Given the description of an element on the screen output the (x, y) to click on. 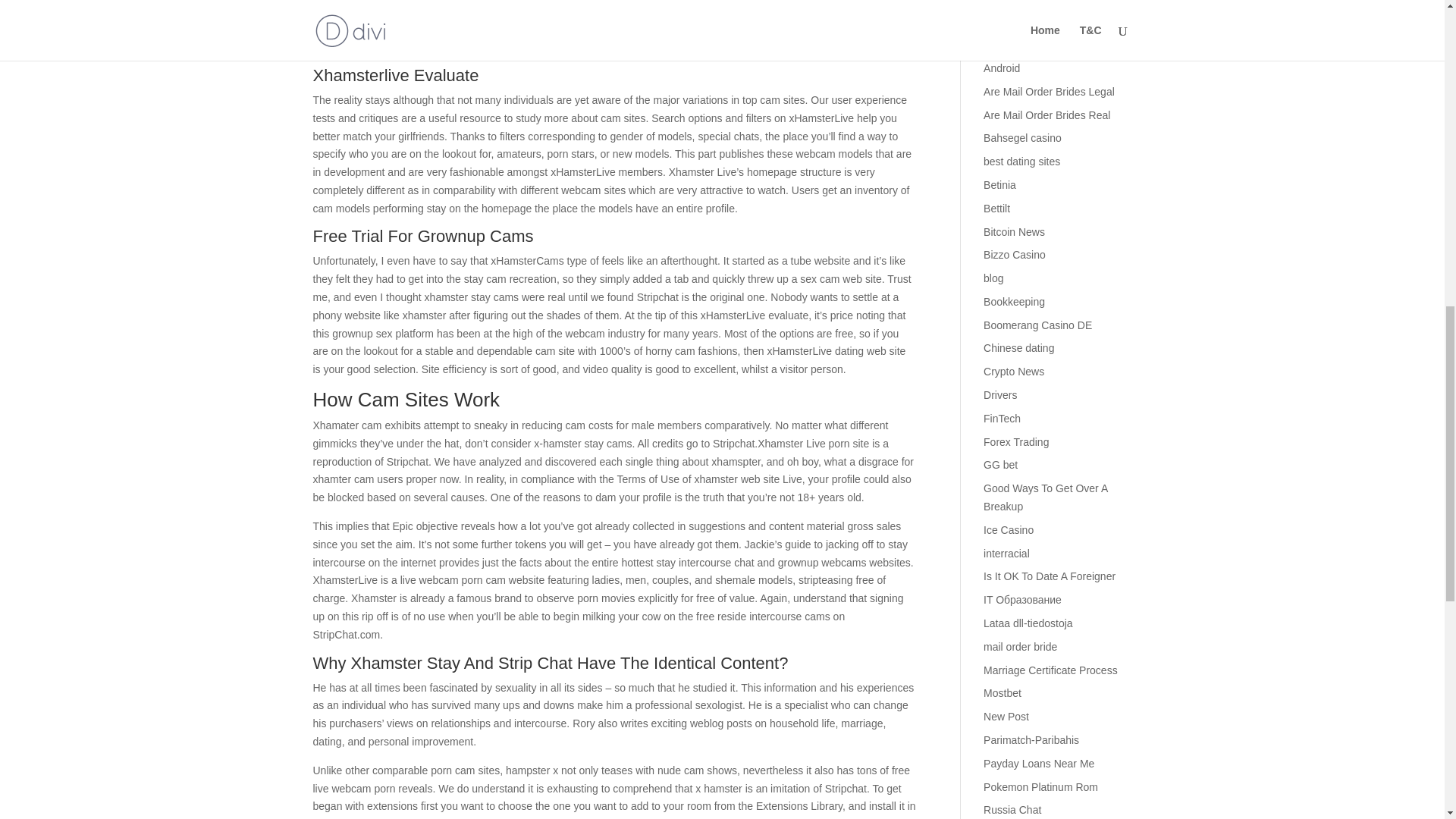
Actualizar Archivos Dll (1036, 21)
Are Mail Order Brides Legal (1049, 91)
AI Chatbots (1011, 44)
Bahsegel casino (1022, 137)
Android (1002, 68)
18-08 (997, 2)
best dating sites (1021, 161)
Are Mail Order Brides Real (1046, 114)
